Given the description of an element on the screen output the (x, y) to click on. 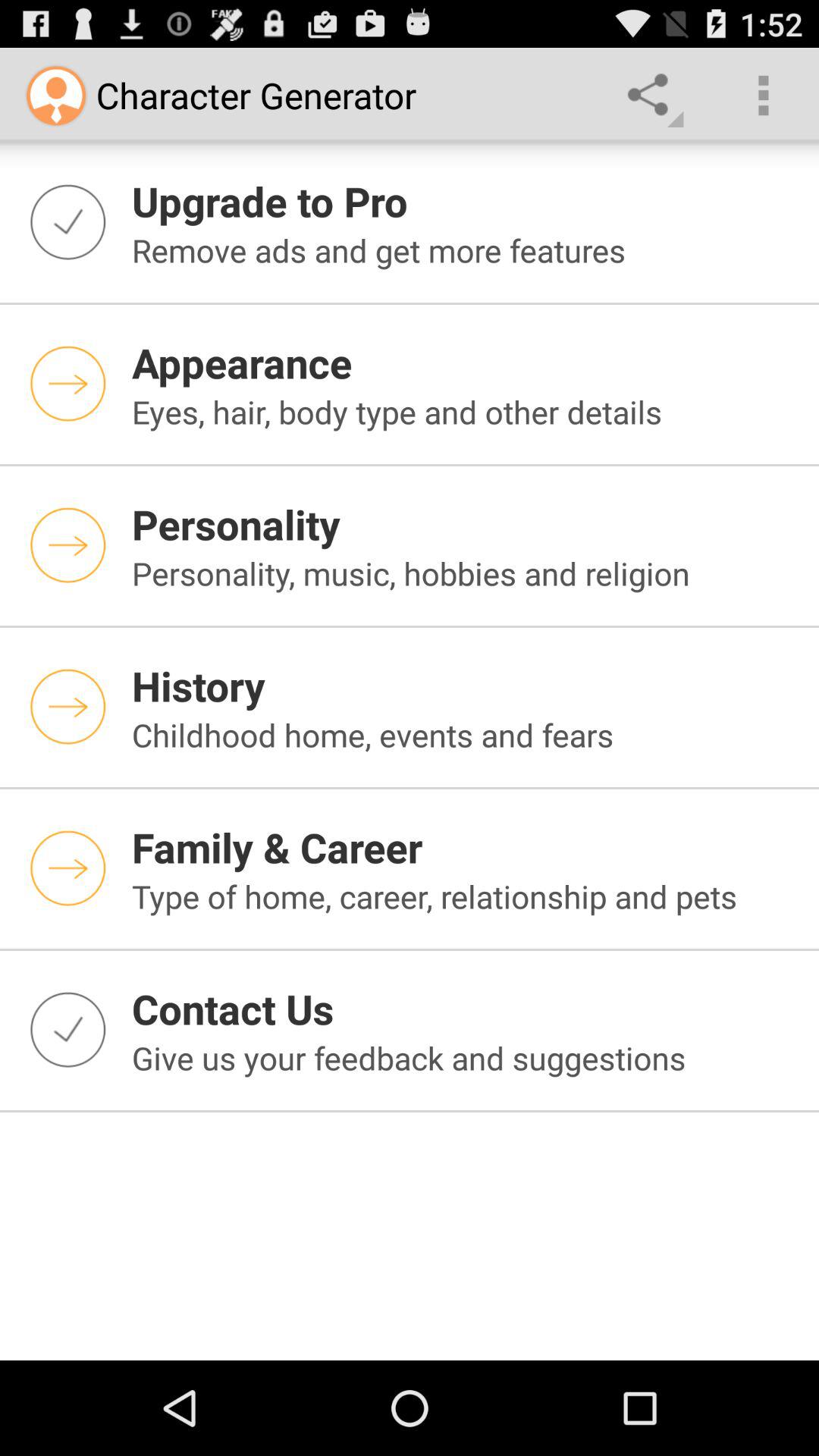
open the contact us icon (465, 1008)
